Given the description of an element on the screen output the (x, y) to click on. 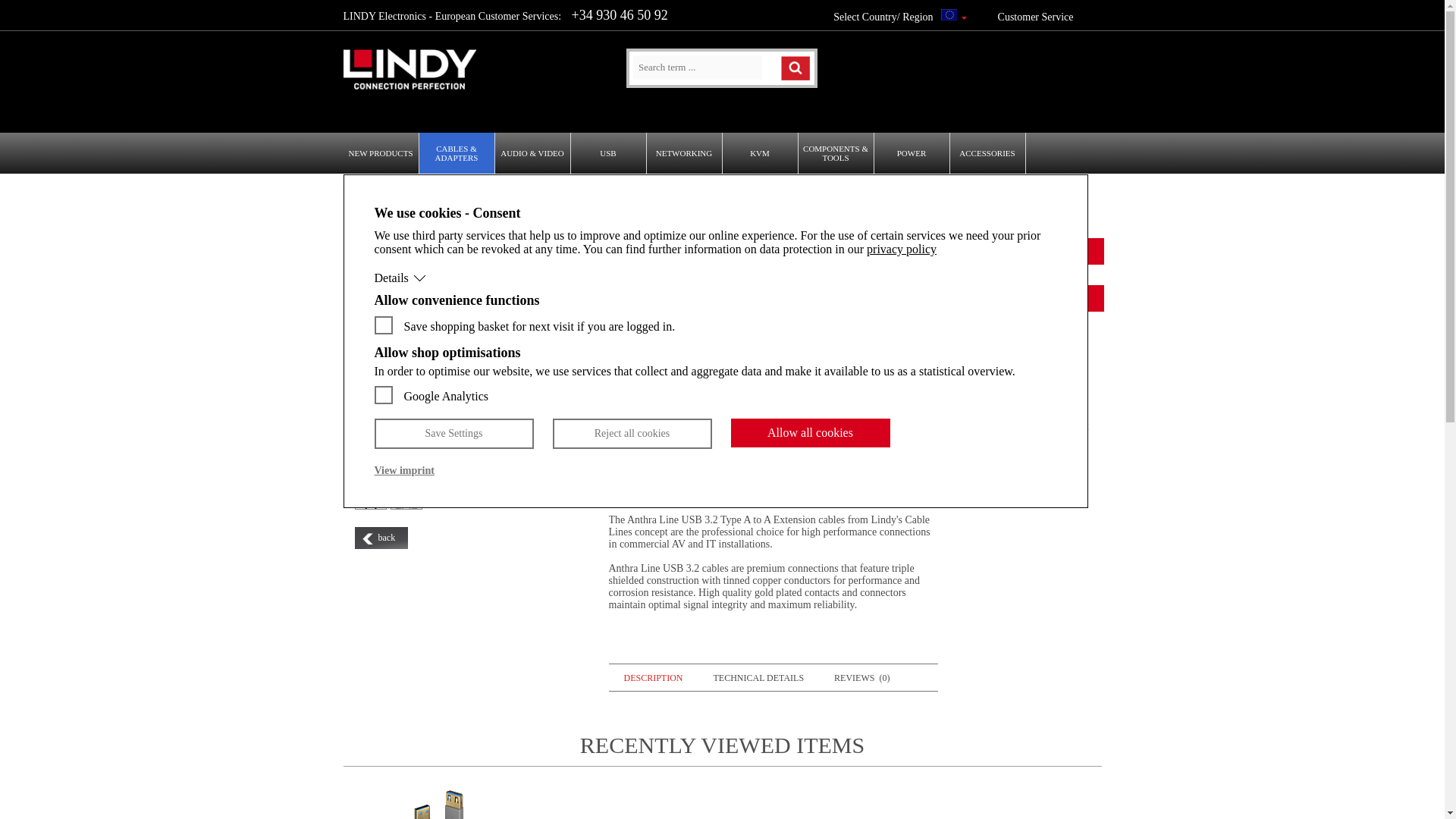
Customer Service (1035, 16)
Customer Service (1035, 16)
NEW PRODUCTS (380, 152)
PDF view (1035, 395)
back to homepage (409, 88)
New Products (380, 152)
